Given the description of an element on the screen output the (x, y) to click on. 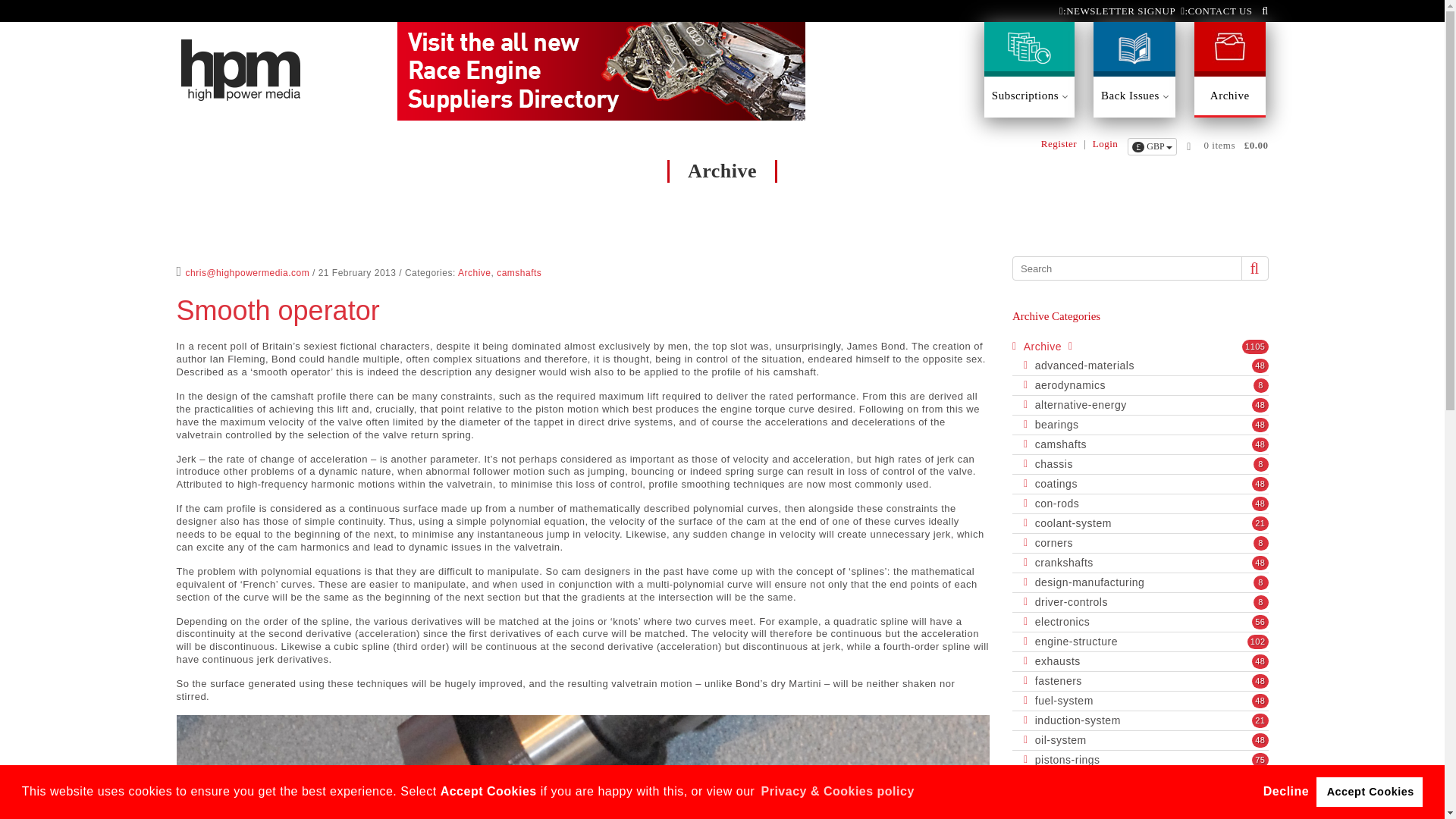
Accept Cookies (1369, 791)
Decline (1289, 791)
